Given the description of an element on the screen output the (x, y) to click on. 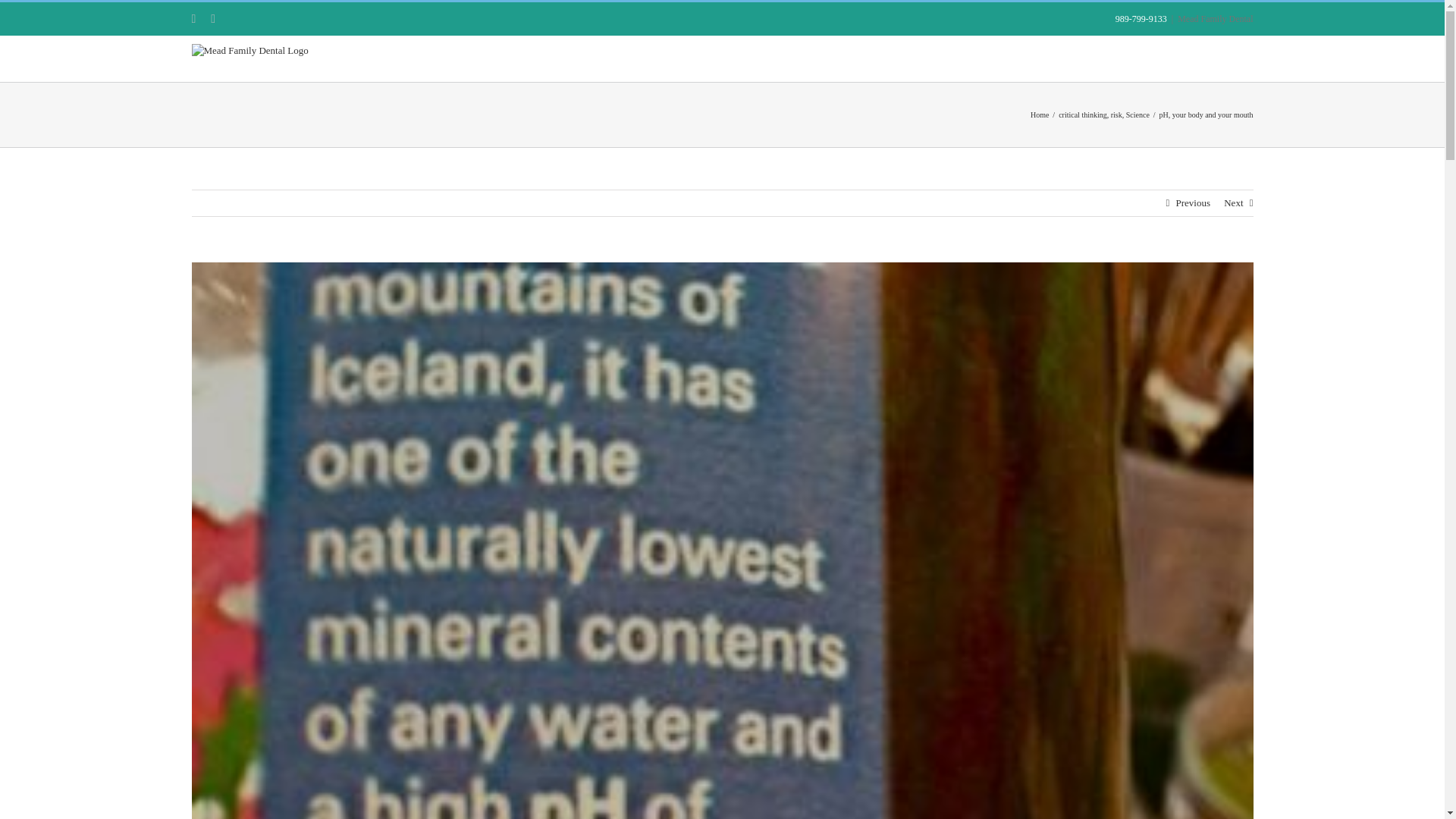
risk (1116, 114)
Previous (1191, 203)
989-799-9133 (1141, 18)
Science (1137, 114)
critical thinking (1082, 114)
Mead Family Dental (1214, 18)
Home (1039, 114)
